Given the description of an element on the screen output the (x, y) to click on. 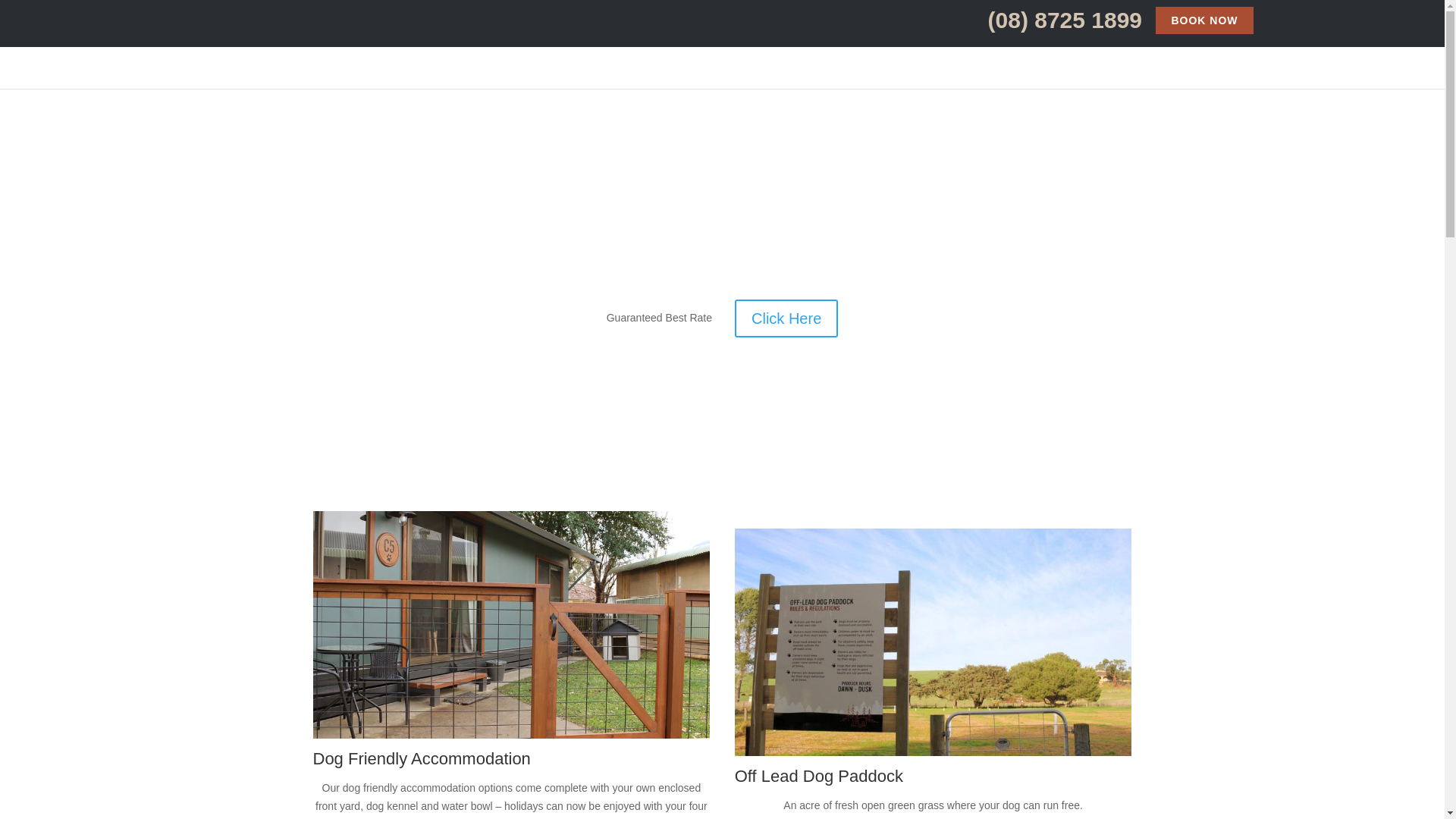
WELCOME (911, 55)
Click Here (786, 318)
OUR PARK (1056, 55)
off-lead-updated (933, 641)
CONTACT (1213, 55)
BOOK NOW (1204, 20)
EXPLORE (1135, 55)
Dog-Cabin-3 (511, 624)
STAY (980, 55)
